Given the description of an element on the screen output the (x, y) to click on. 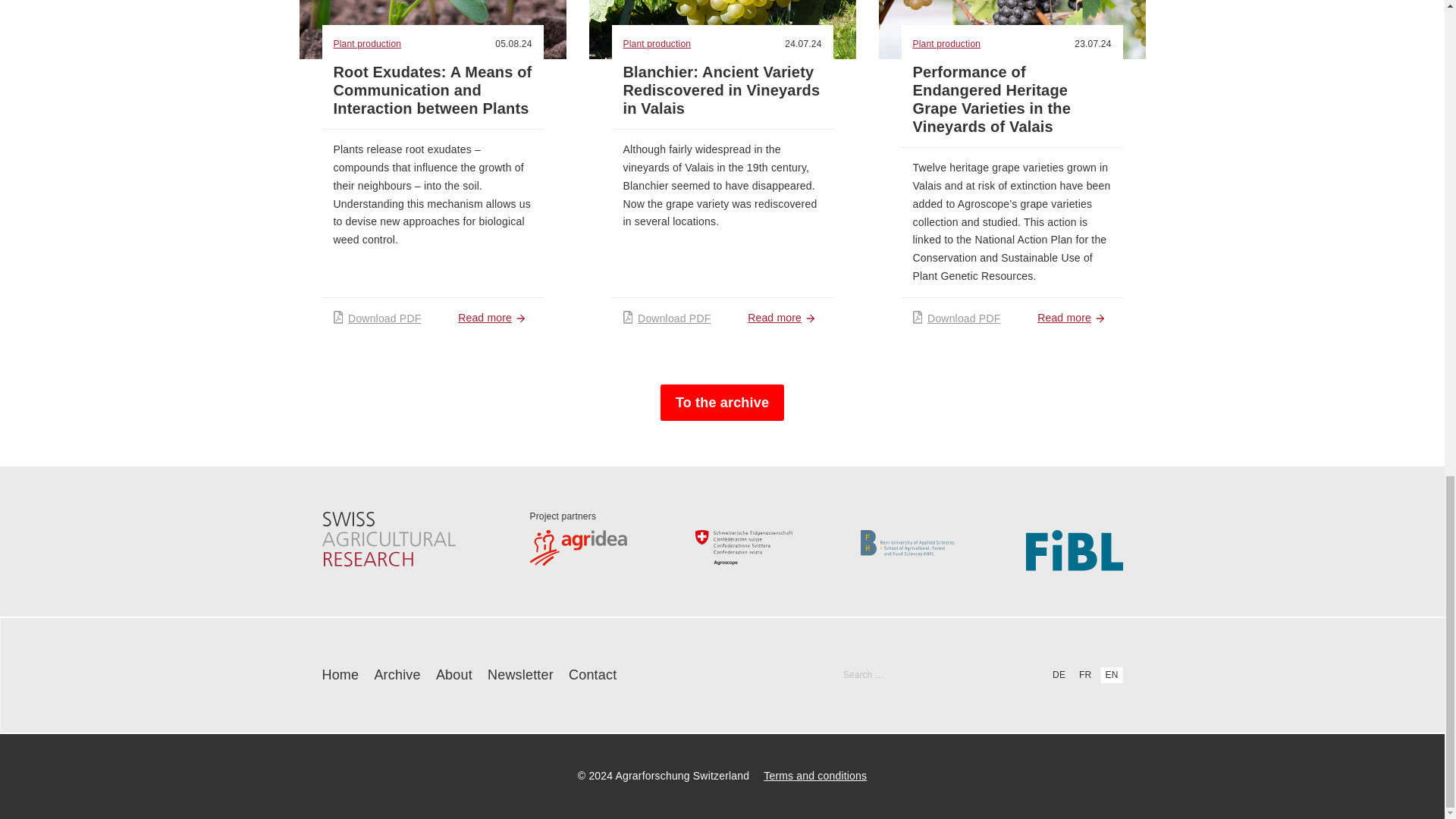
Download PDF (667, 318)
Read more (494, 318)
Read articles from 2024 (513, 43)
Read more (784, 318)
Plant production (382, 43)
Plant production (961, 43)
24.07.24 (802, 43)
Download PDF (377, 318)
Plant production (672, 43)
